Given the description of an element on the screen output the (x, y) to click on. 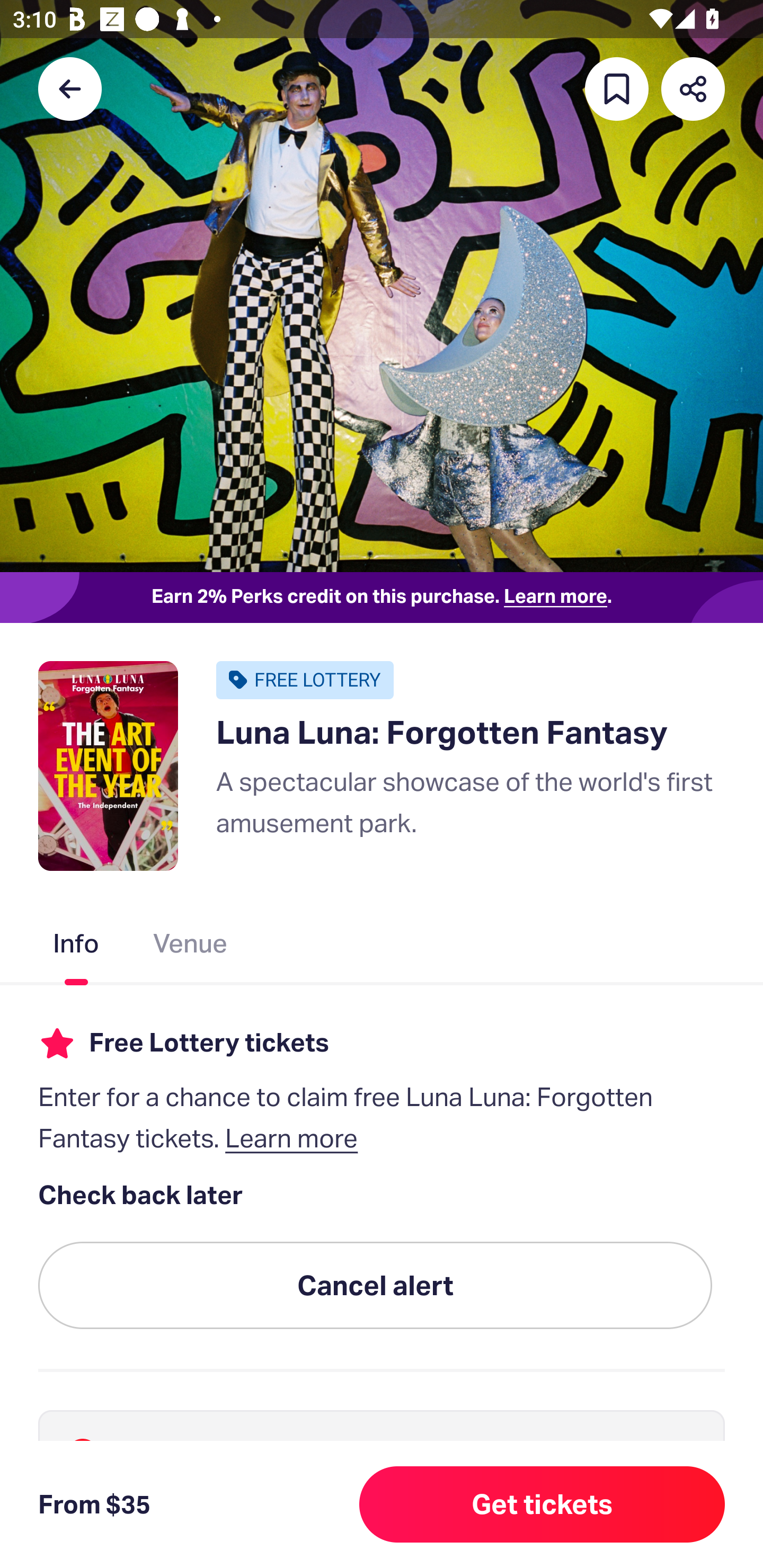
Earn 2% Perks credit on this purchase. Learn more. (381, 597)
Venue (190, 946)
Cancel alert (374, 1286)
Get tickets (541, 1504)
